Given the description of an element on the screen output the (x, y) to click on. 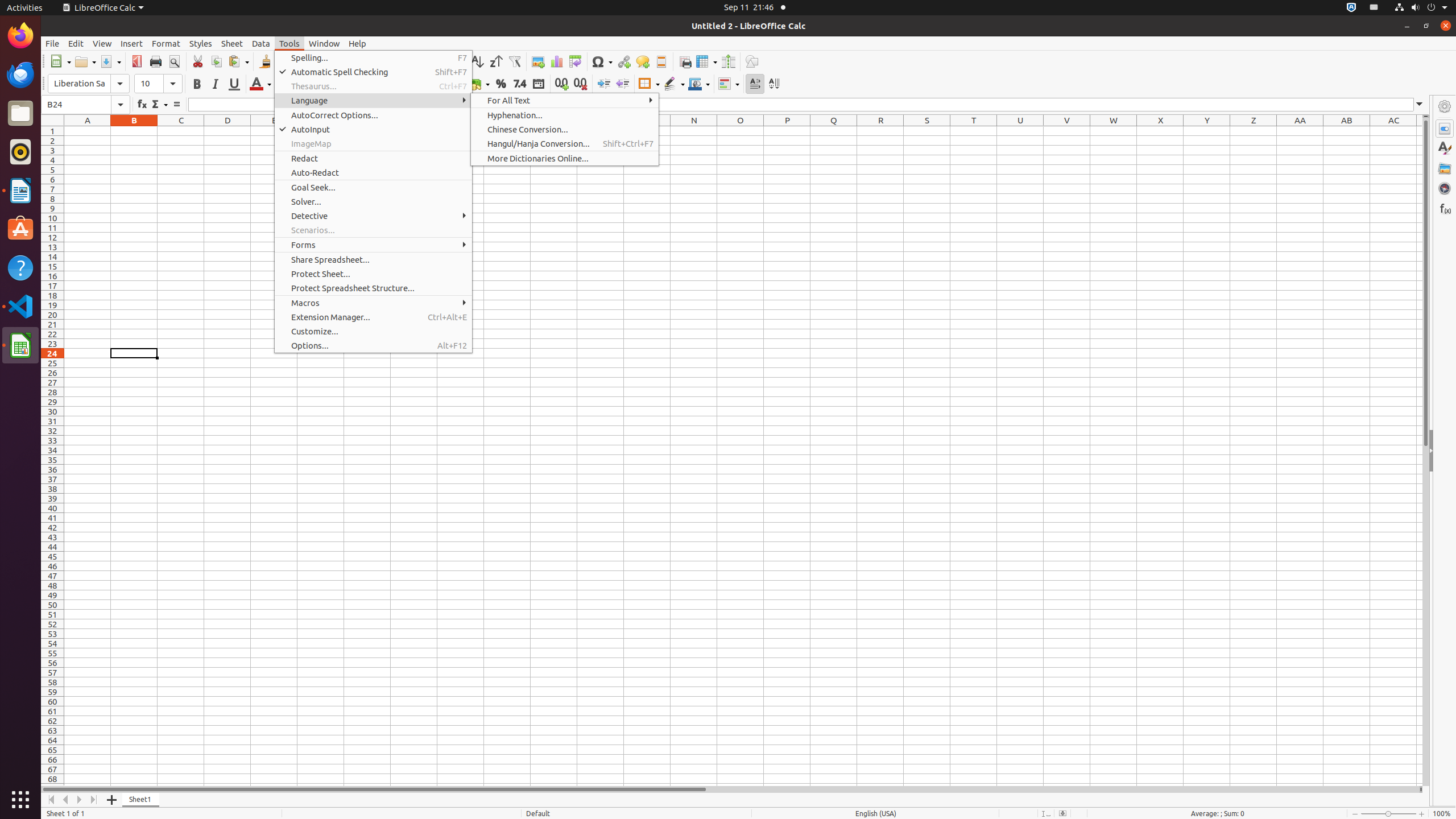
Data Element type: menu (260, 43)
V1 Element type: table-cell (1066, 130)
W1 Element type: table-cell (1113, 130)
View Element type: menu (102, 43)
Thesaurus... Element type: menu-item (373, 86)
